Given the description of an element on the screen output the (x, y) to click on. 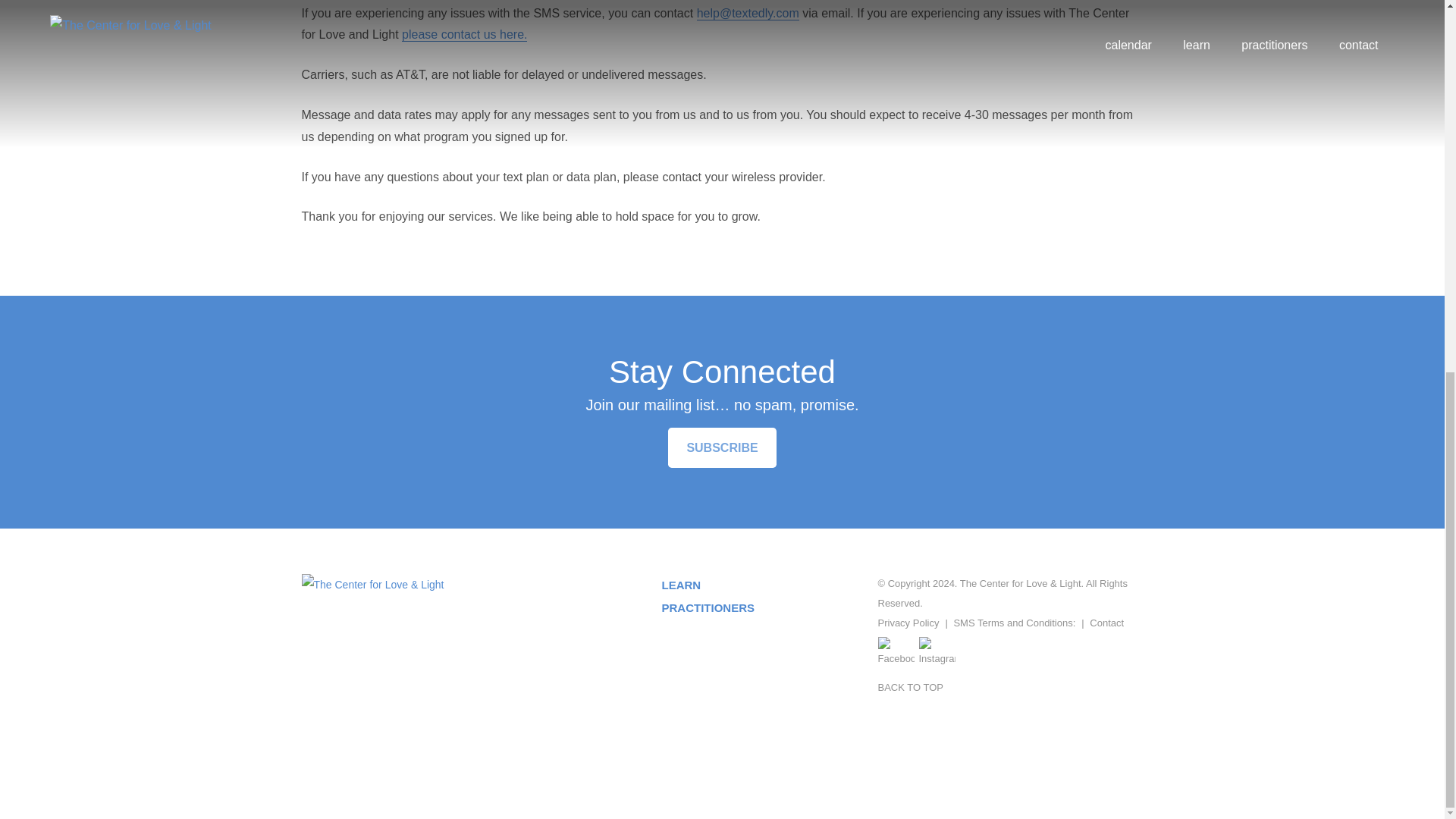
PRACTITIONERS (707, 607)
SMS Terms and Conditions: (1014, 622)
Subscribe (722, 447)
Privacy Policy (908, 622)
SUBSCRIBE (722, 447)
please contact us here. (464, 34)
Contact (1106, 622)
BACK TO TOP (910, 686)
LEARN (680, 584)
